Given the description of an element on the screen output the (x, y) to click on. 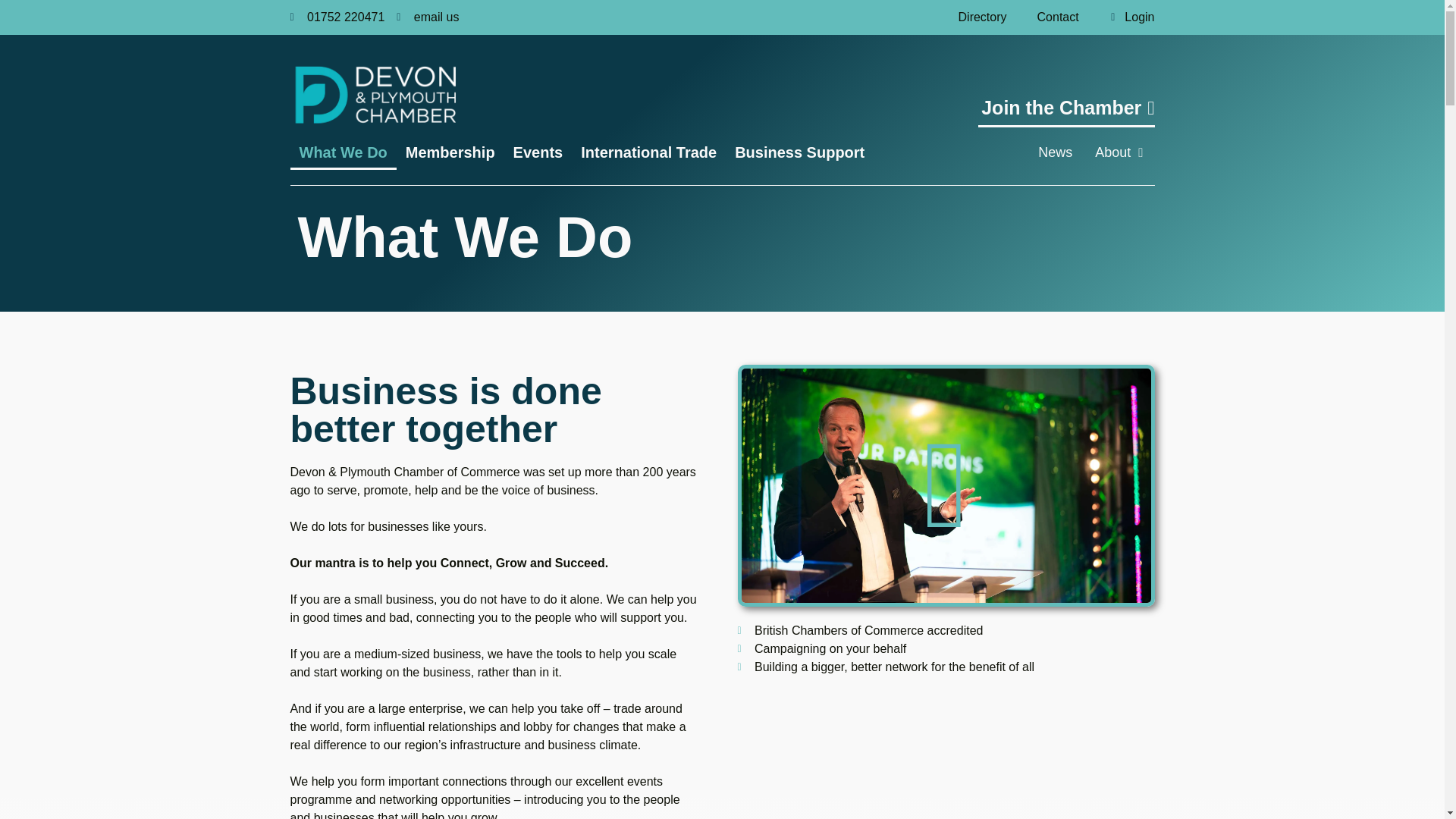
Contact (1058, 17)
What We Do (342, 152)
Membership (449, 152)
Business Support (799, 152)
youtube Video Player (946, 485)
Login (1124, 17)
Events (537, 152)
International Trade (648, 152)
Directory (982, 17)
Join the Chamber (1066, 112)
